Given the description of an element on the screen output the (x, y) to click on. 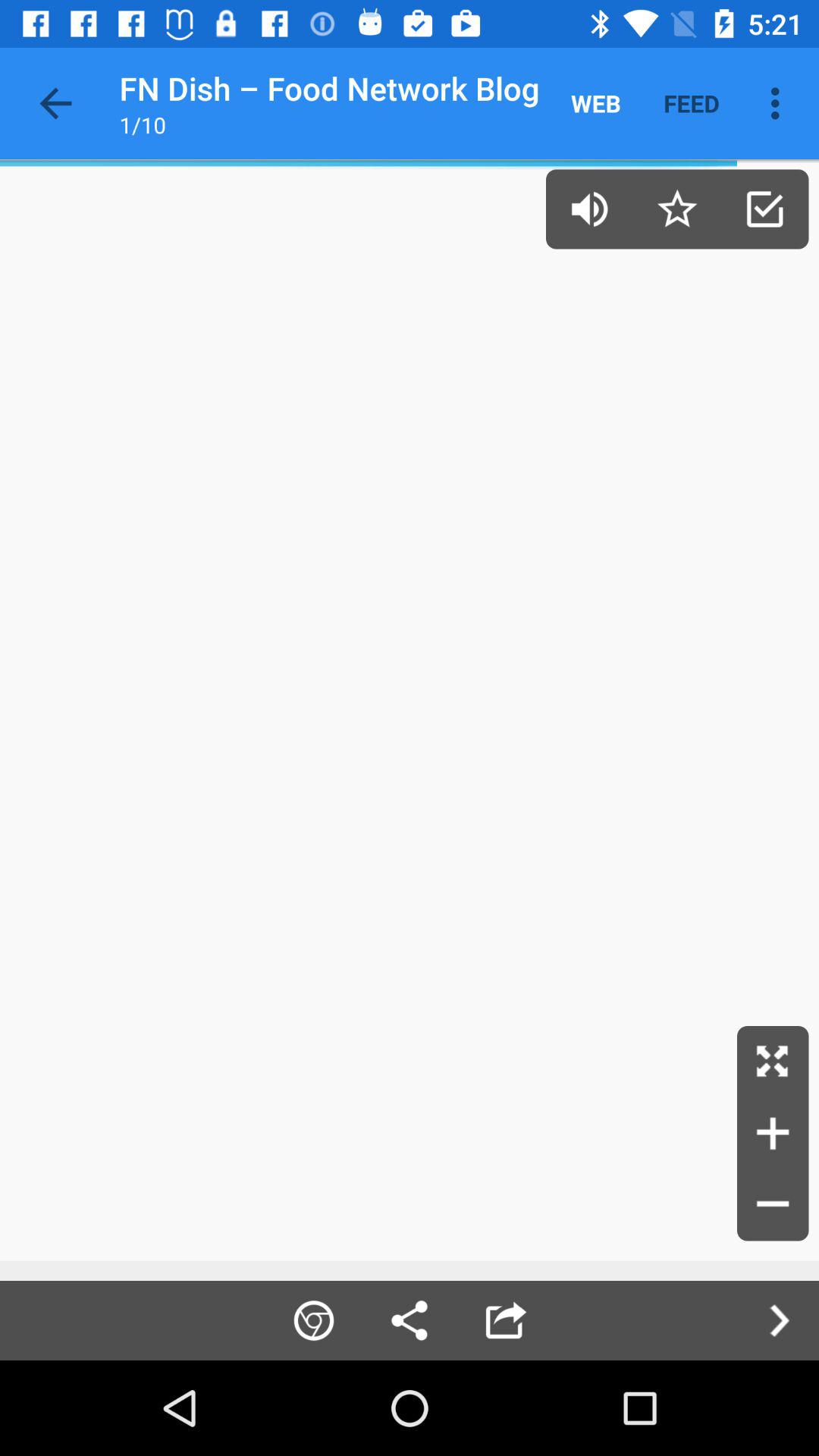
toggle widescreen (772, 1061)
